Given the description of an element on the screen output the (x, y) to click on. 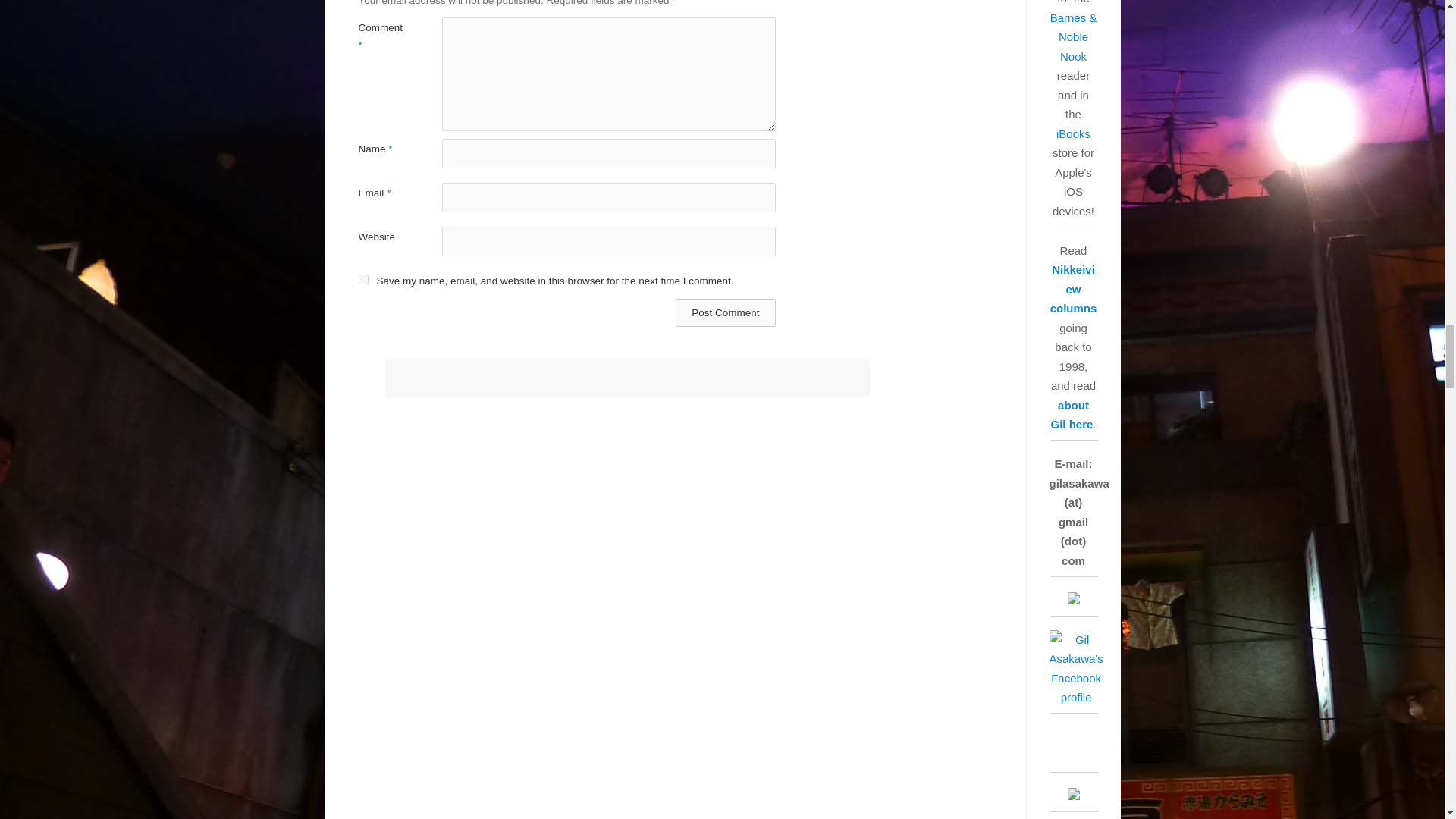
Post Comment (724, 312)
yes (363, 279)
Gil Asakawa's Facebook profile (1076, 697)
